Given the description of an element on the screen output the (x, y) to click on. 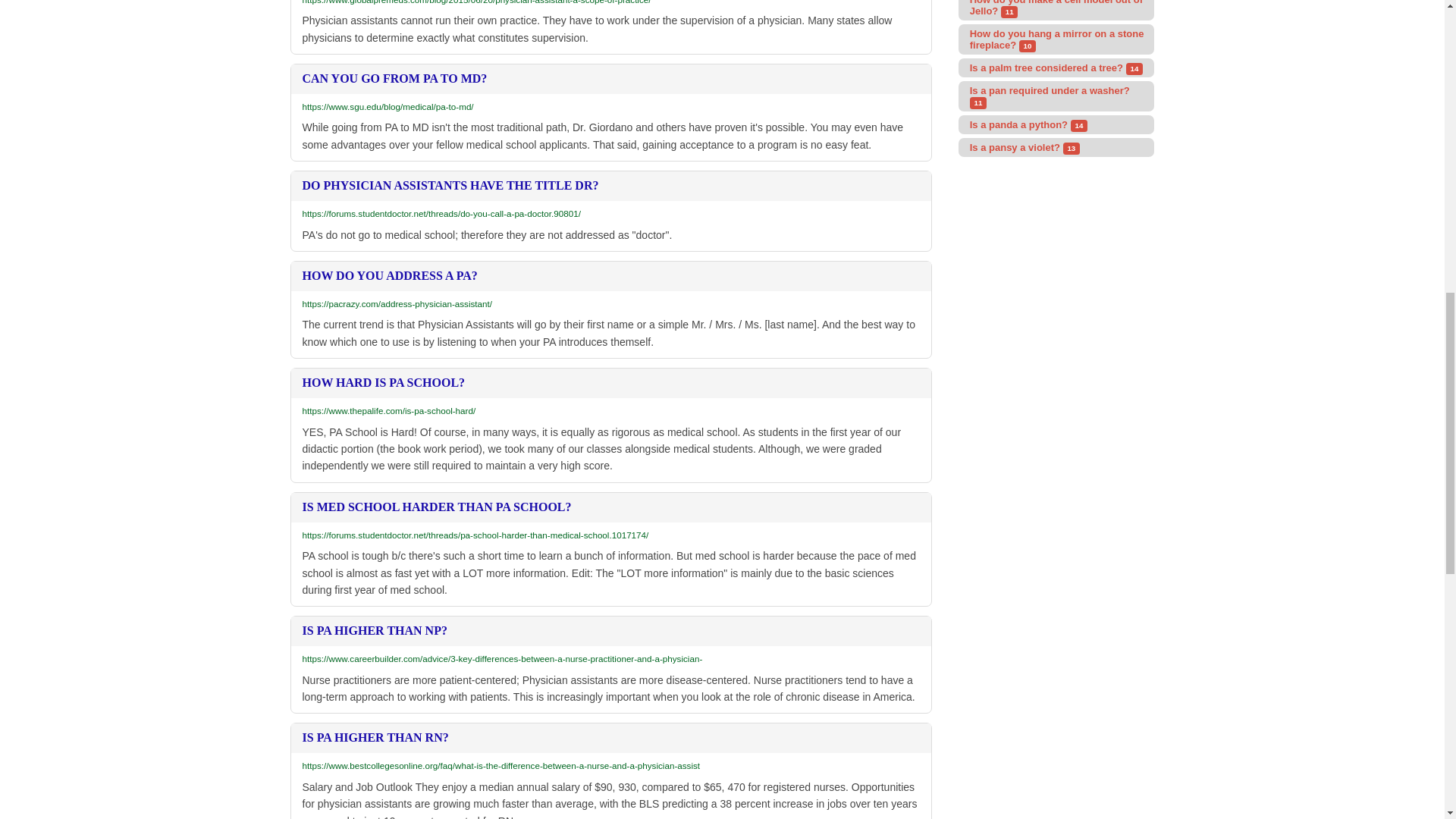
How do you make a cell model out of Jello? 11 (1056, 10)
Is a pansy a violet? 13 (1056, 147)
Is a pan required under a washer? 11 (1056, 96)
Is a palm tree considered a tree? 14 (1056, 67)
Is a panda a python? 14 (1056, 124)
How do you hang a mirror on a stone fireplace? 10 (1056, 39)
